Given the description of an element on the screen output the (x, y) to click on. 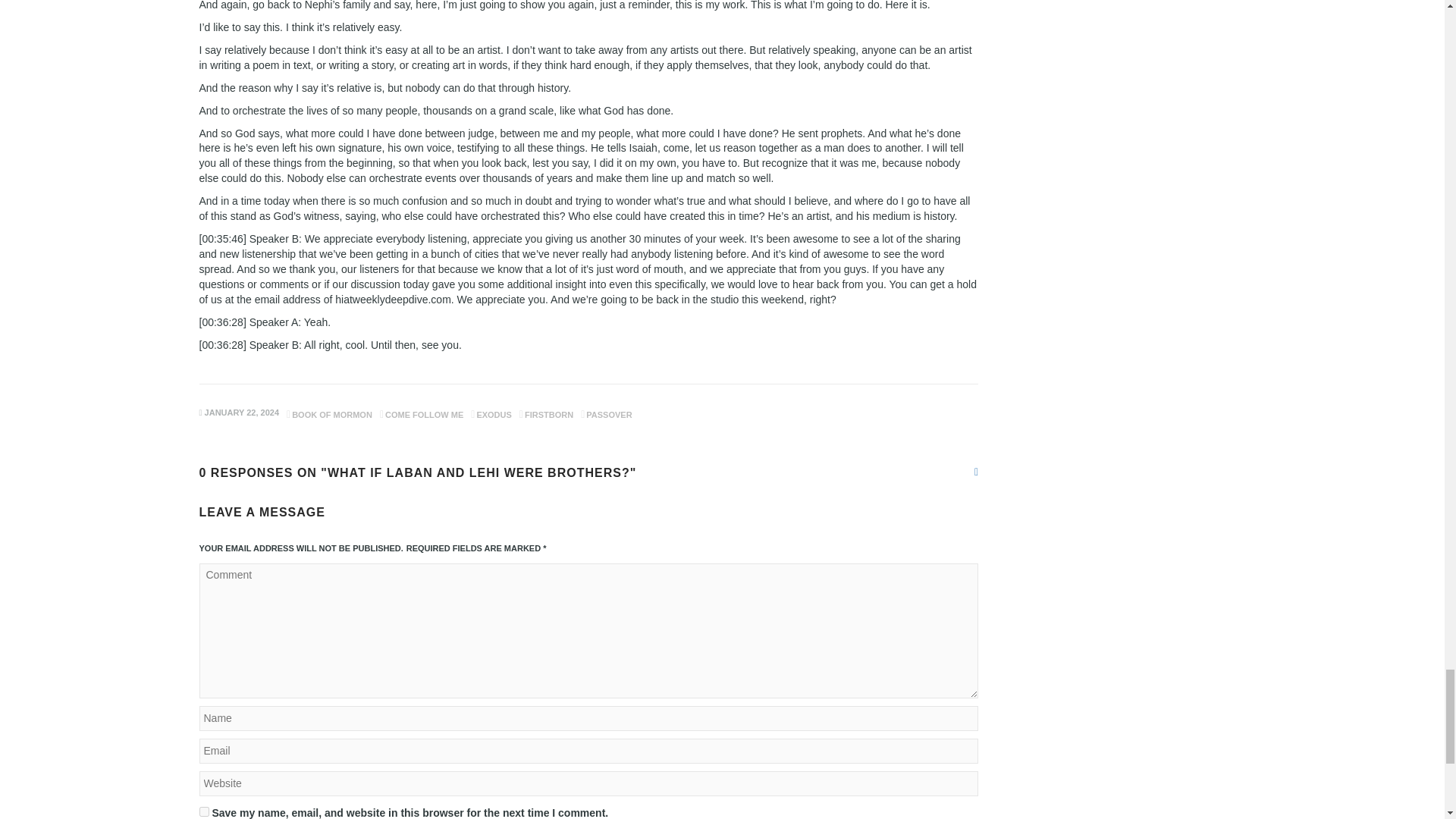
yes (203, 811)
